Given the description of an element on the screen output the (x, y) to click on. 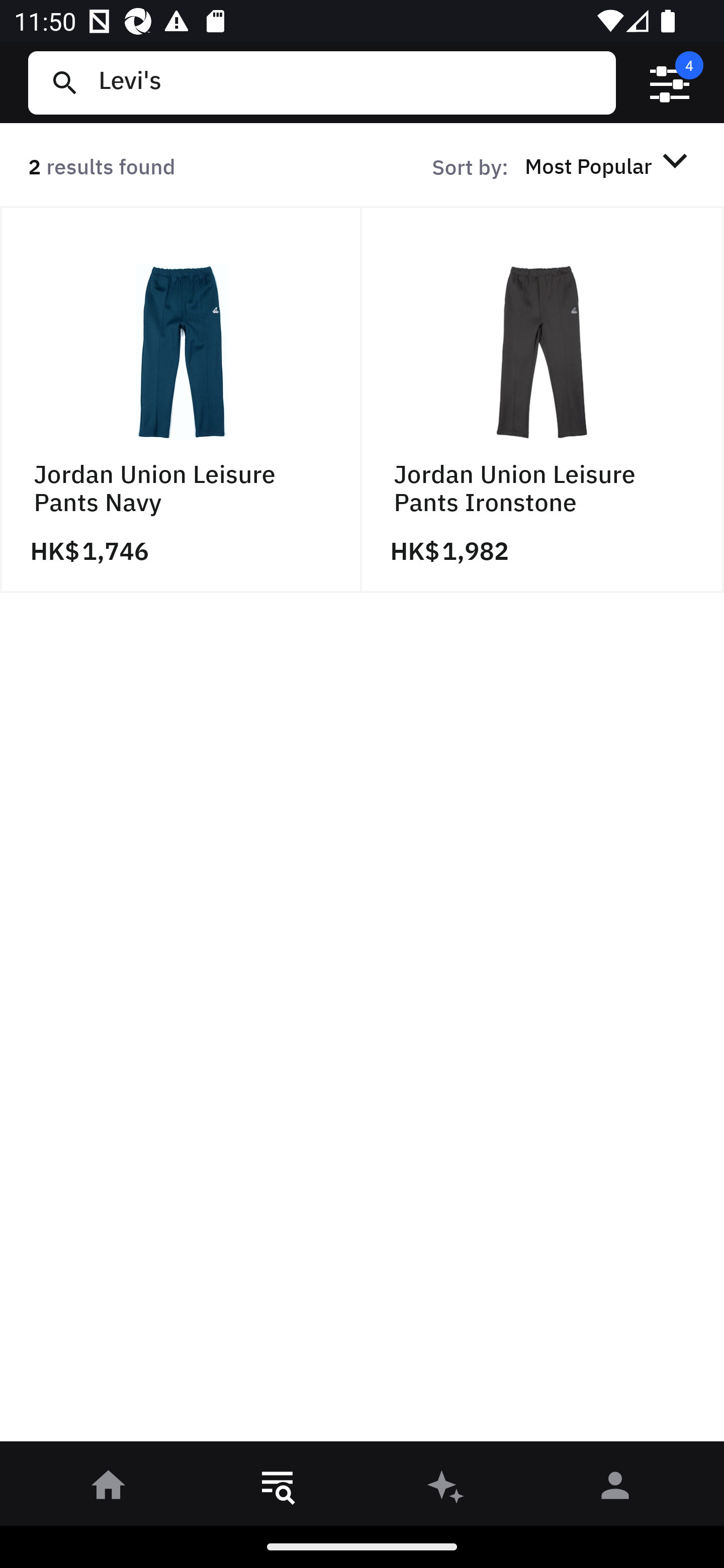
Levi's (349, 82)
 (669, 82)
Most Popular  (609, 165)
Jordan Union Leisure Pants Navy HK$ 1,746 (181, 399)
Jordan Union Leisure Pants Ironstone HK$ 1,982 (543, 399)
󰋜 (108, 1488)
󱎸 (277, 1488)
󰫢 (446, 1488)
󰀄 (615, 1488)
